Given the description of an element on the screen output the (x, y) to click on. 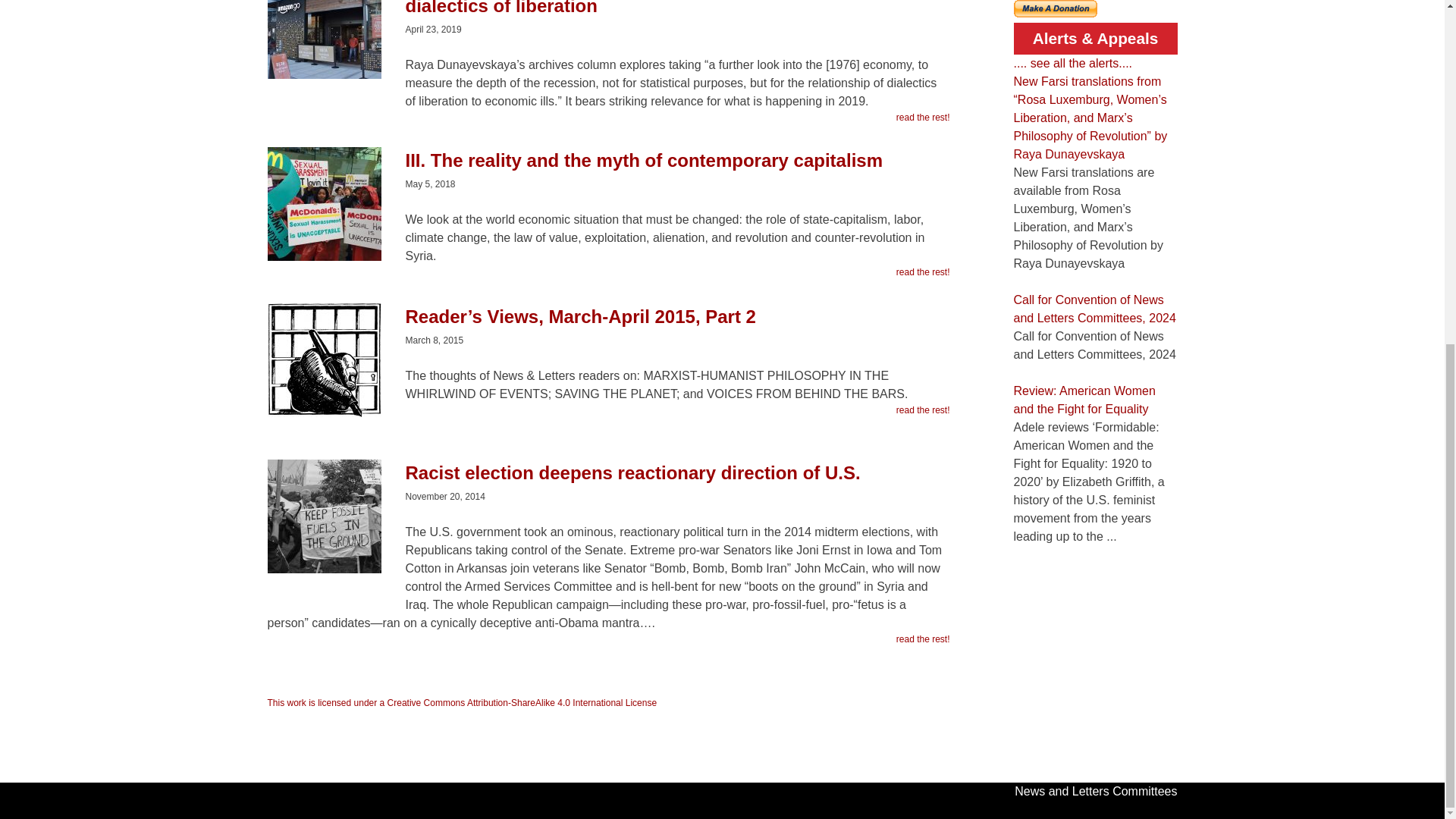
.... see all the alerts.... (1072, 62)
read the rest! (923, 272)
Racist election deepens reactionary direction of U.S. (607, 480)
Review: American Women and the Fight for Equality (1083, 399)
read the rest! (923, 639)
read the rest! (923, 117)
III. The reality and the myth of contemporary capitalism (607, 168)
read the rest! (923, 409)
Call for Convention of News and Letters Committees, 2024 (1093, 308)
